Given the description of an element on the screen output the (x, y) to click on. 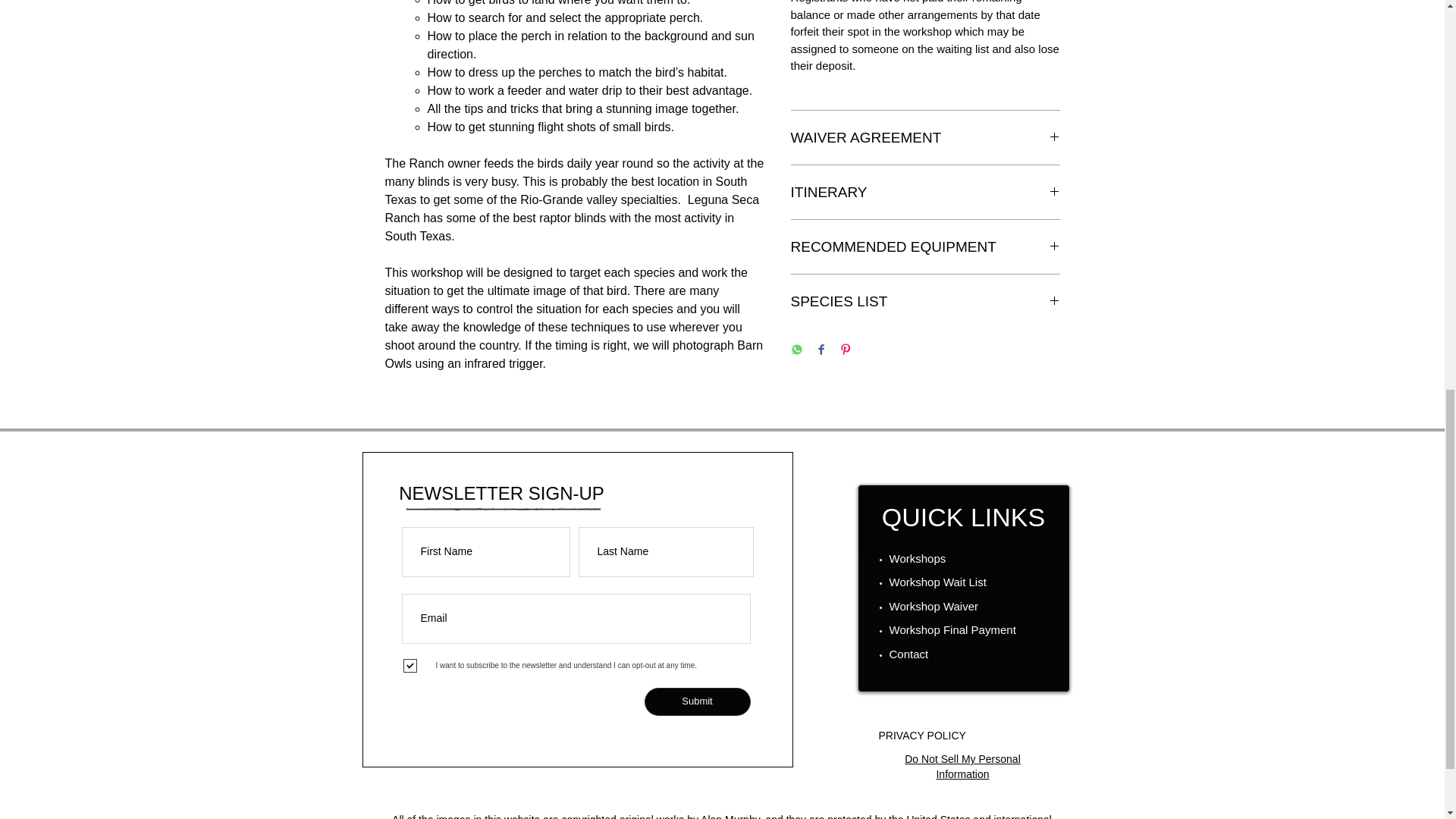
WAIVER AGREEMENT (924, 137)
